Given the description of an element on the screen output the (x, y) to click on. 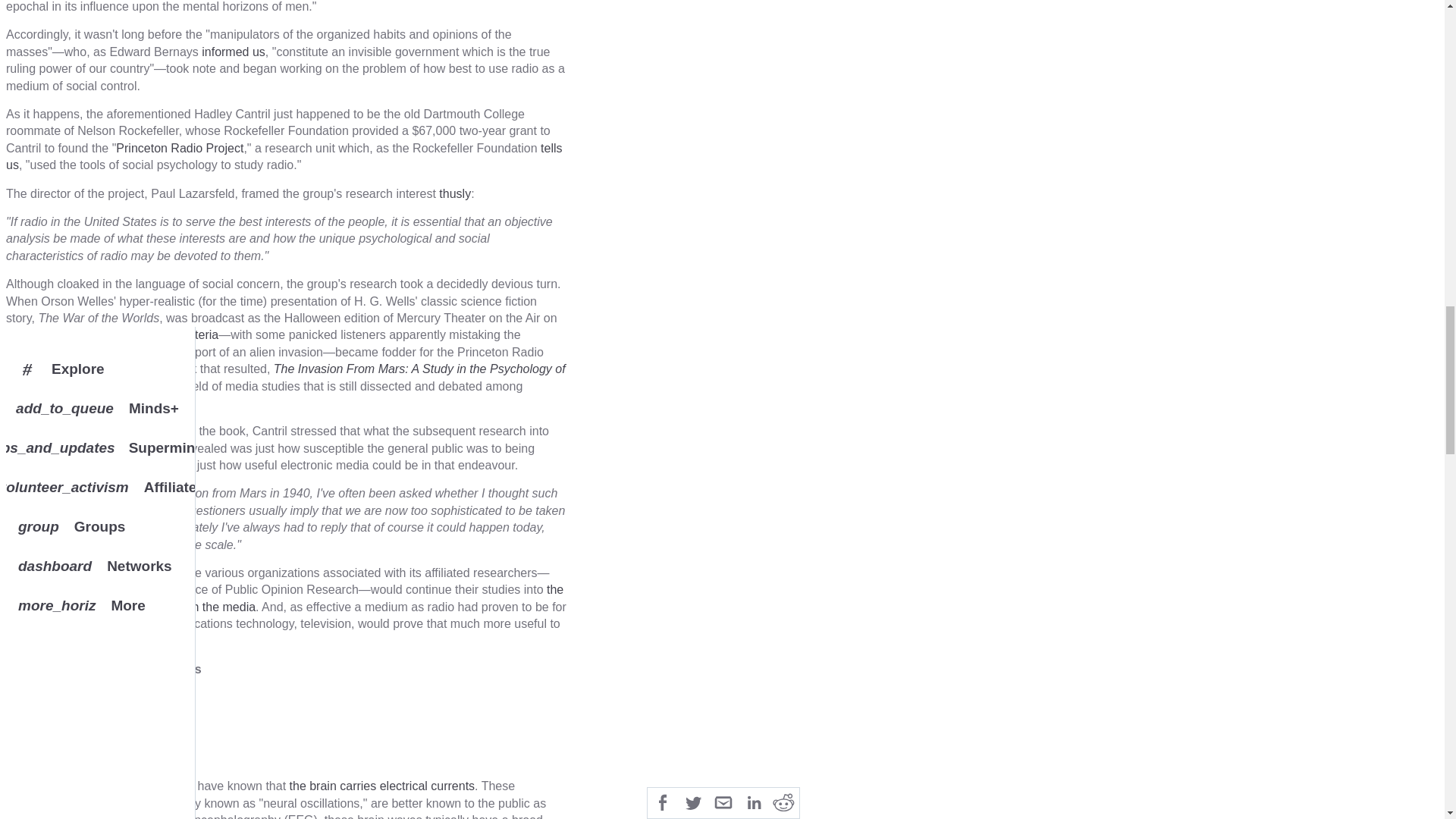
The Invasion From Mars: A Study in the Psychology of Panic (285, 377)
resulting hysteria (172, 334)
the brain carries electrical currents (382, 785)
informed us (233, 51)
thusly (454, 193)
the psychology of social control through the media (284, 597)
tells us (283, 156)
Princeton Radio Project (179, 147)
preface (58, 431)
